Given the description of an element on the screen output the (x, y) to click on. 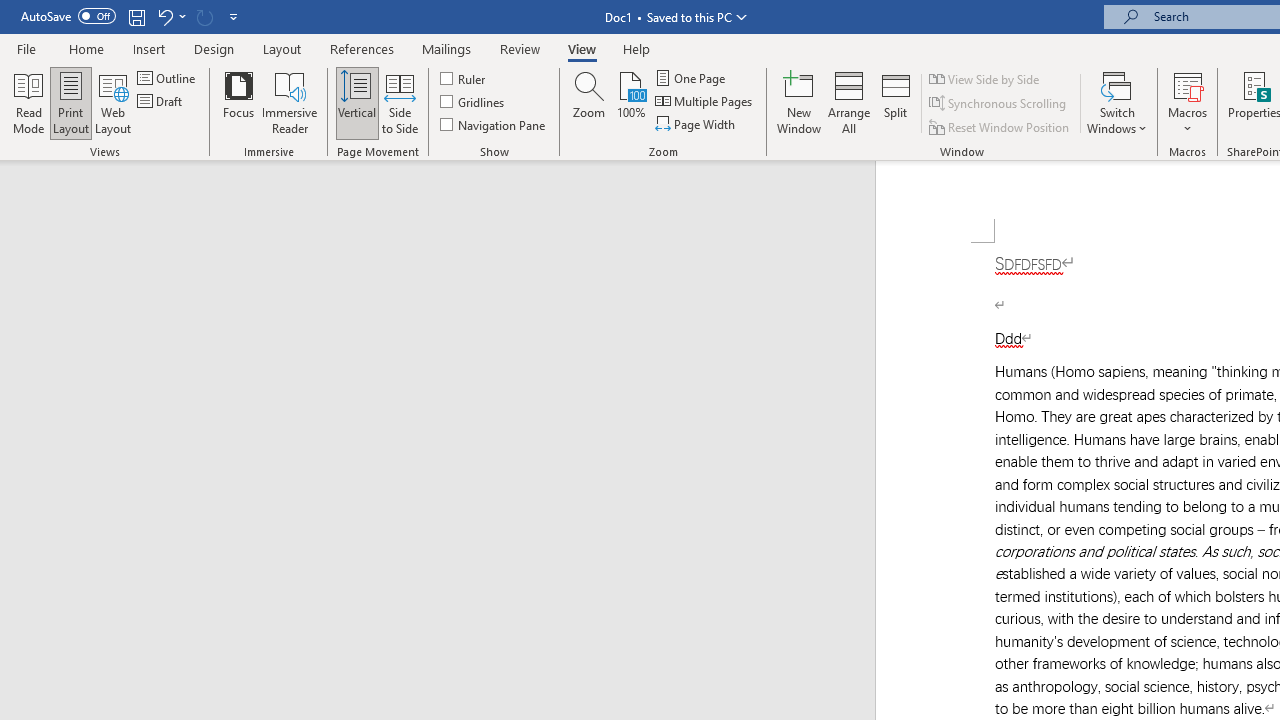
Side to Side (399, 102)
Undo Apply Quick Style Set (170, 15)
Reset Window Position (1000, 126)
Immersive Reader (289, 102)
Can't Repeat (204, 15)
Multiple Pages (705, 101)
Undo Apply Quick Style Set (164, 15)
Outline (168, 78)
Vertical (356, 102)
